Given the description of an element on the screen output the (x, y) to click on. 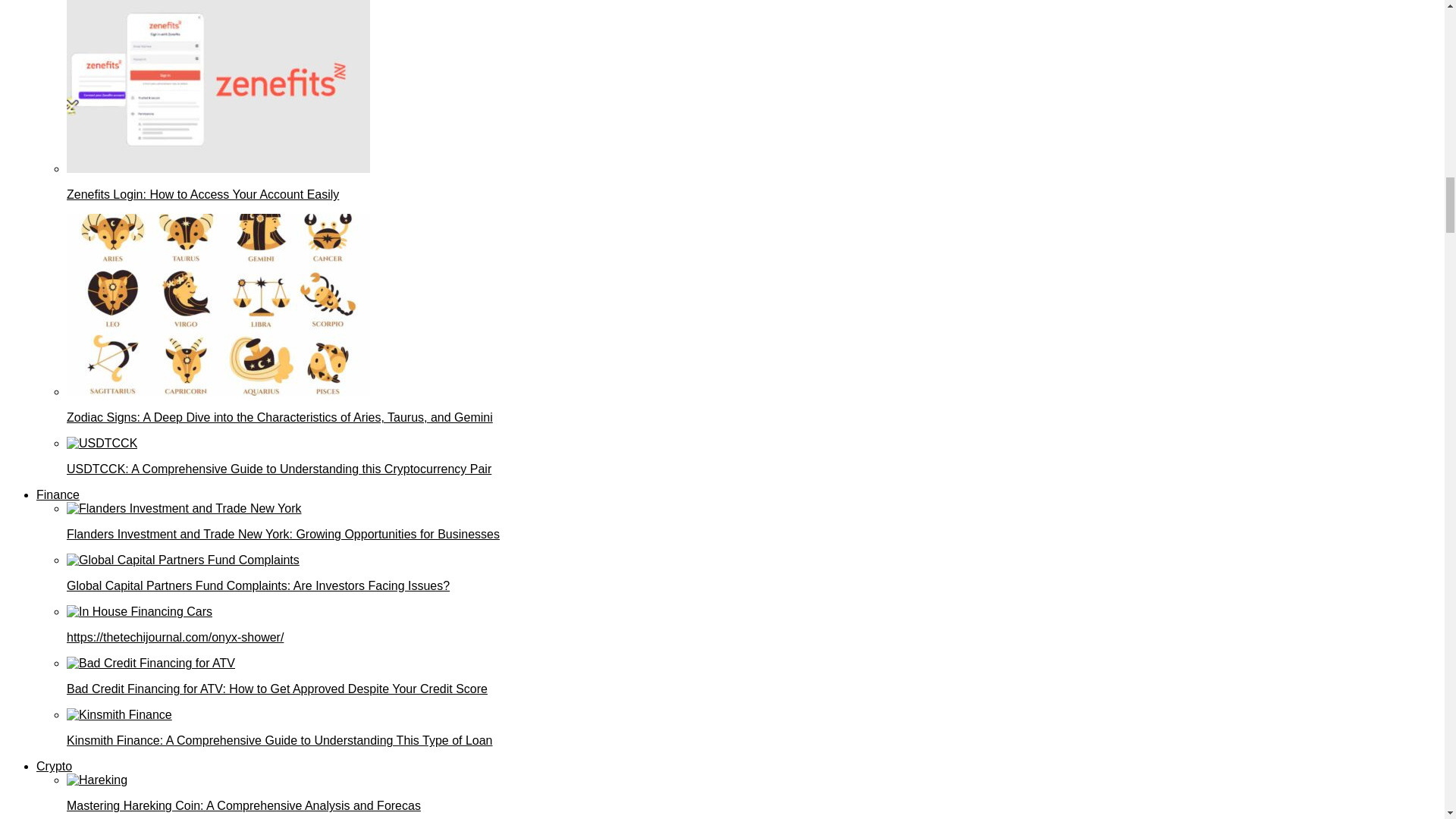
Finance (58, 494)
